Given the description of an element on the screen output the (x, y) to click on. 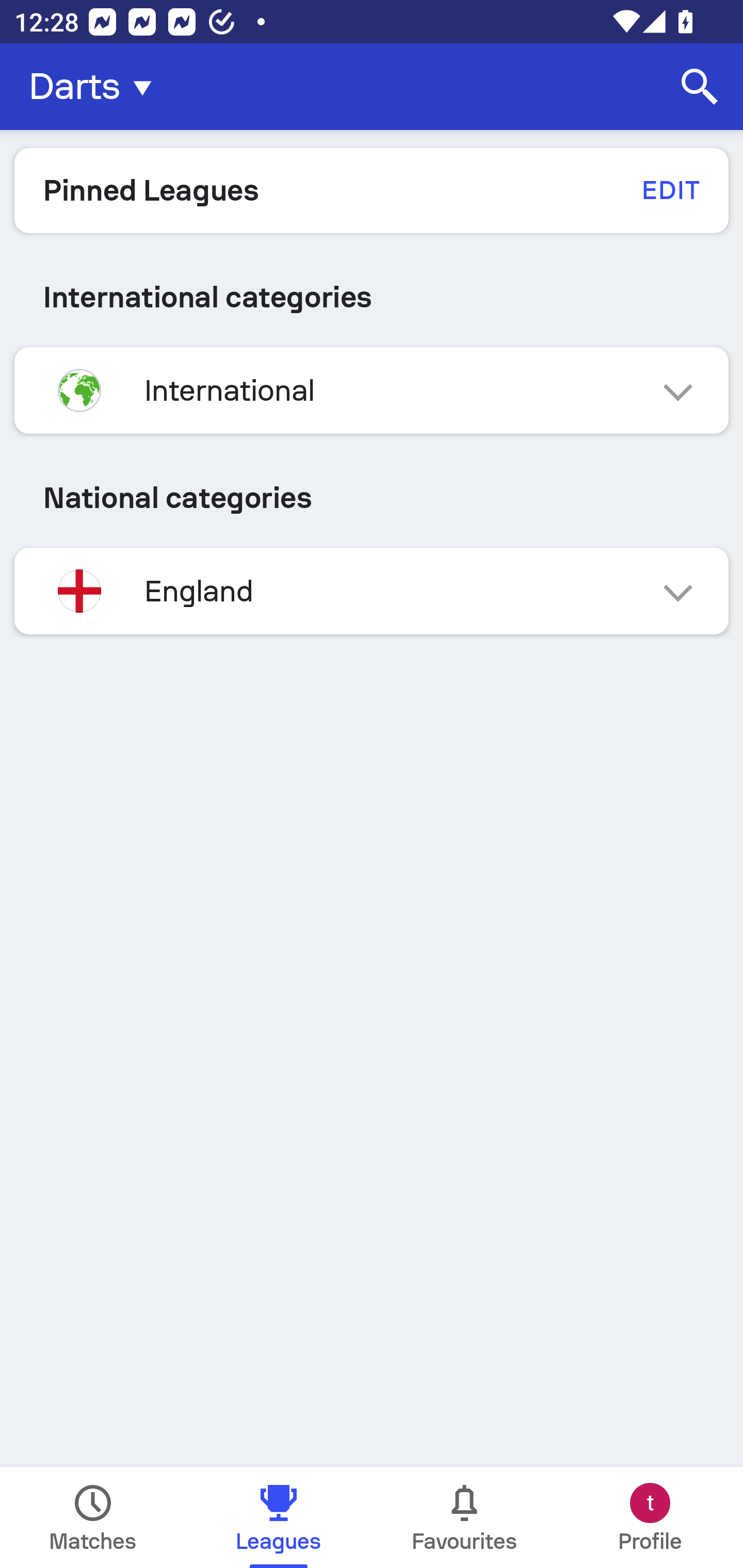
Darts (96, 86)
Search (699, 86)
Pinned Leagues EDIT (371, 190)
EDIT (670, 190)
International categories (371, 296)
International (371, 390)
National categories (371, 497)
England (371, 591)
Matches (92, 1517)
Favourites (464, 1517)
Profile (650, 1517)
